Given the description of an element on the screen output the (x, y) to click on. 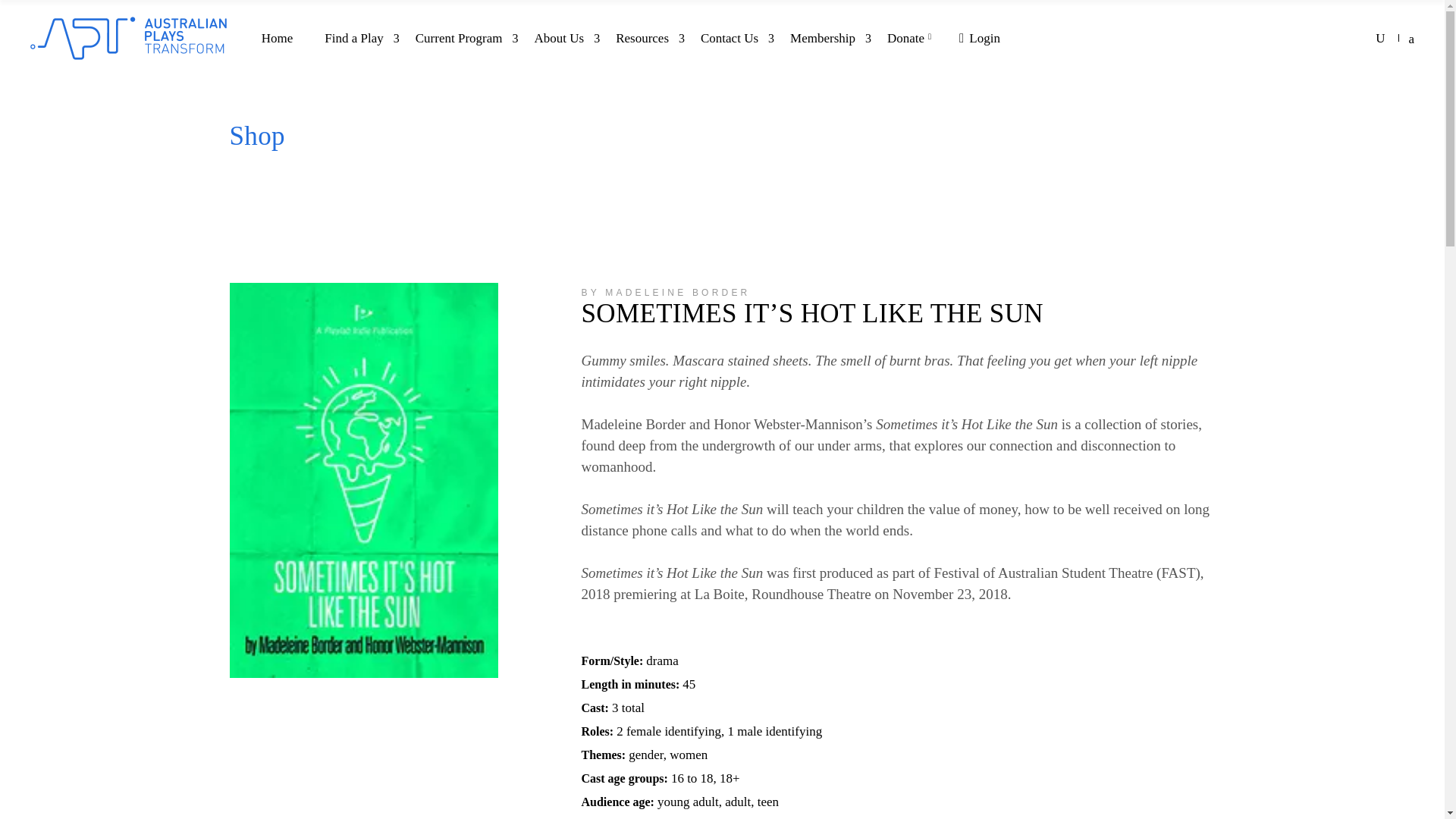
Find a Play (353, 38)
Current Program (458, 38)
About Us (558, 38)
Resources (641, 38)
